Given the description of an element on the screen output the (x, y) to click on. 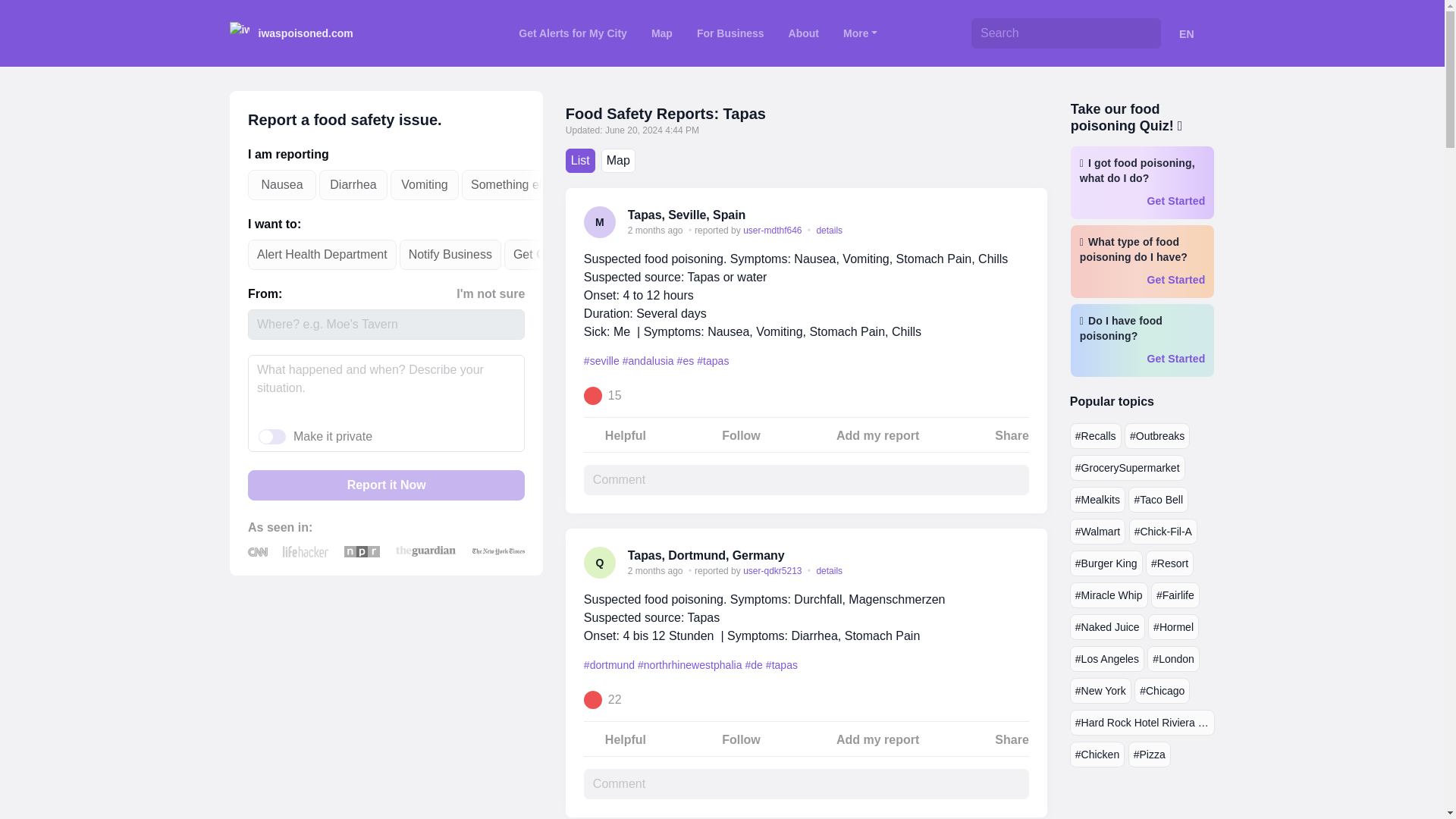
More (860, 33)
Report it Now (385, 485)
For Business (730, 33)
iwaspoisoned.com (290, 33)
List (580, 160)
Tapas, Seville, Spain (686, 214)
M (599, 222)
Tapas, Dortmund, Germany (705, 554)
Copied (1019, 556)
Get Alerts for My City (572, 33)
